Given the description of an element on the screen output the (x, y) to click on. 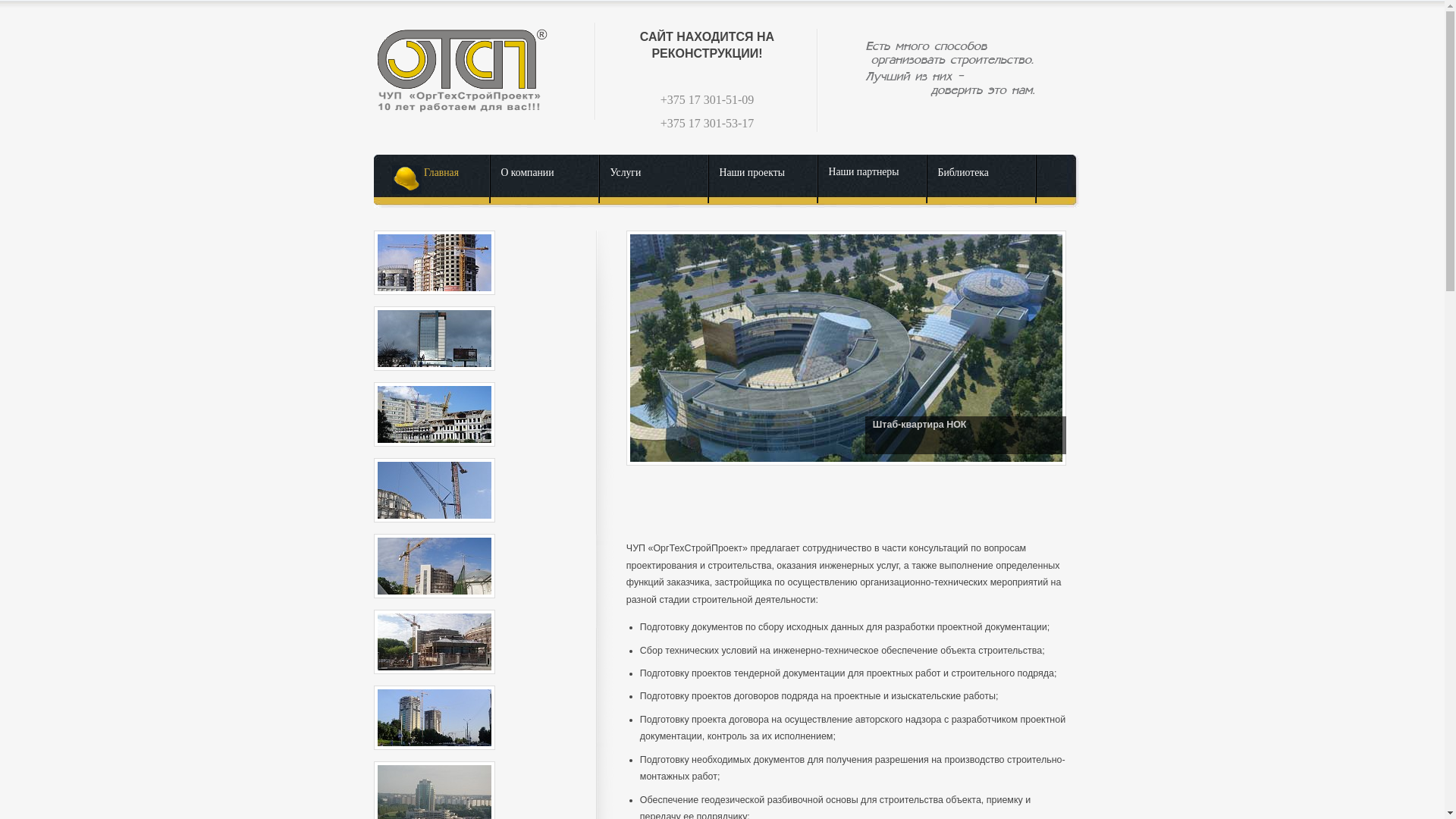
02JPG  Element type: hover (433, 303)
04JPG -  Element type: hover (433, 490)
08JPG  Element type: hover (433, 758)
06JPG  Element type: hover (433, 606)
07JPG -  Element type: hover (433, 717)
01JPG -  Element type: hover (433, 262)
05JPG -  Element type: hover (433, 565)
01JPG  Element type: hover (433, 227)
03JPG  Element type: hover (433, 378)
06JPG -  Element type: hover (433, 641)
02JPG -  Element type: hover (433, 338)
05JPG  Element type: hover (433, 530)
04JPG  Element type: hover (433, 454)
03JPG -  Element type: hover (433, 414)
07JPG  Element type: hover (433, 682)
